Given the description of an element on the screen output the (x, y) to click on. 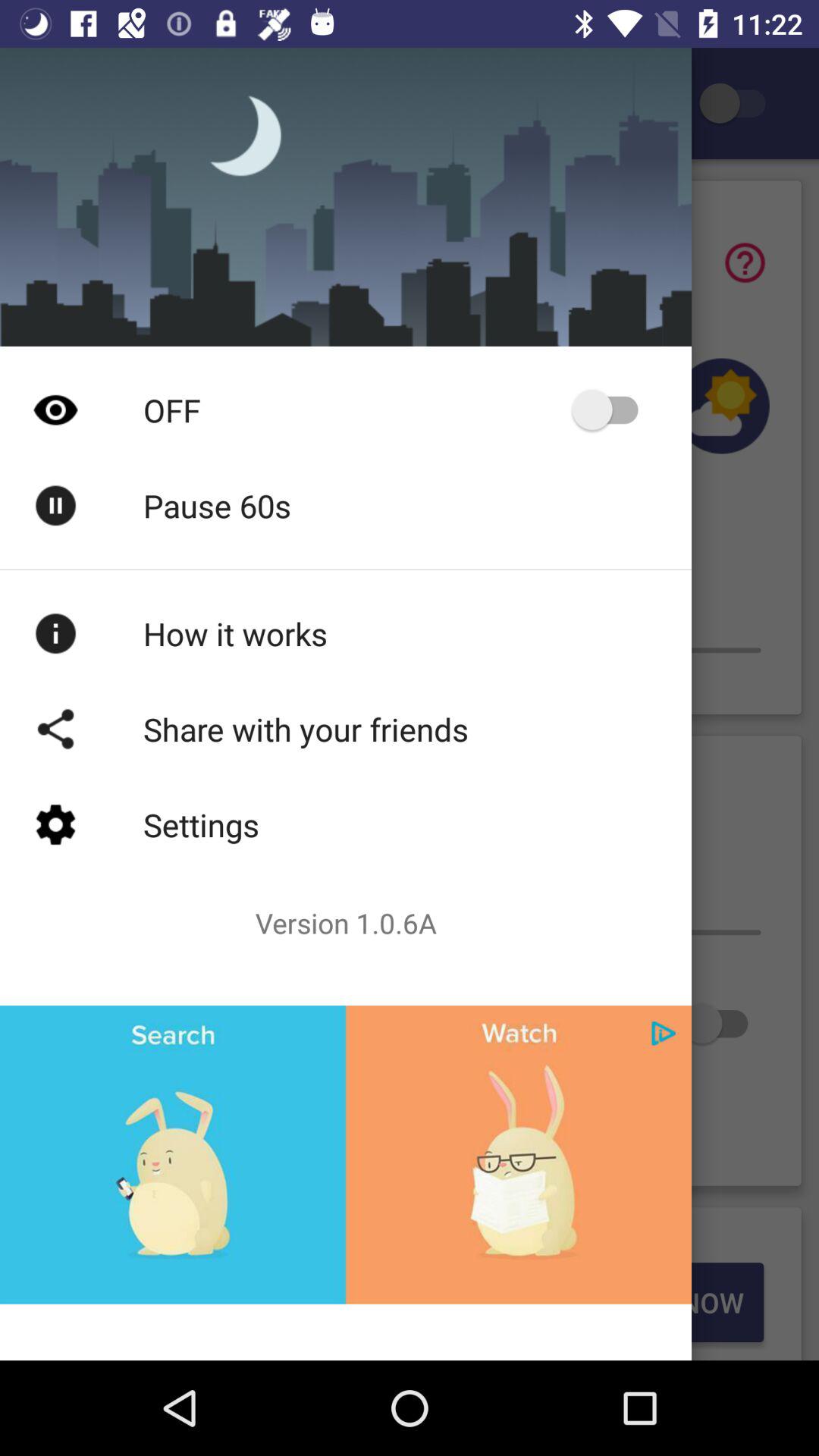
question symbol (744, 262)
